Given the description of an element on the screen output the (x, y) to click on. 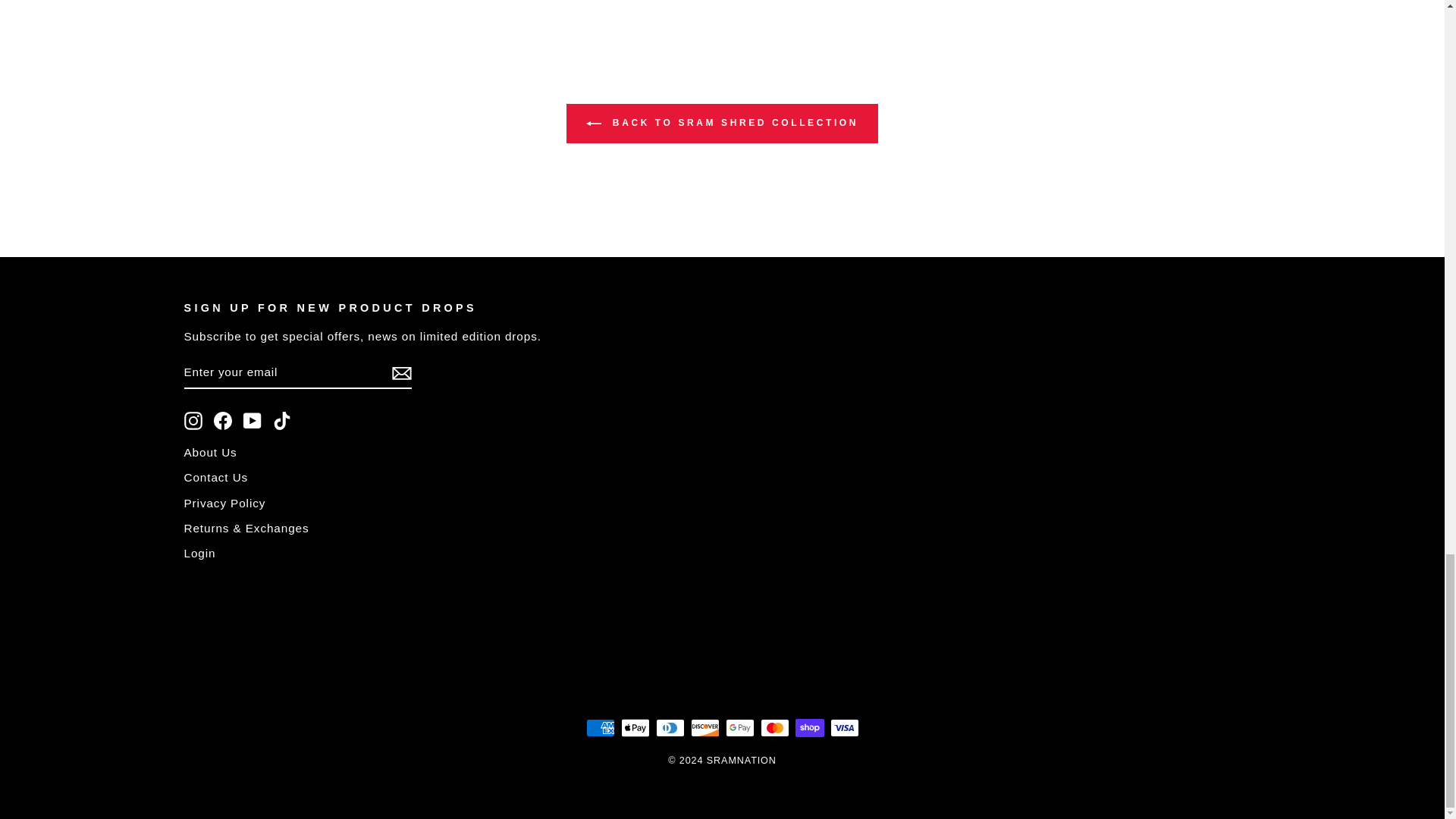
Shop Pay (809, 728)
Diners Club (669, 728)
Google Pay (739, 728)
Discover (704, 728)
icon-email (400, 372)
instagram (192, 420)
Mastercard (774, 728)
SRAMNATION on TikTok (282, 420)
SRAMNATION on Facebook (222, 420)
SRAMNATION on YouTube (251, 420)
